Given the description of an element on the screen output the (x, y) to click on. 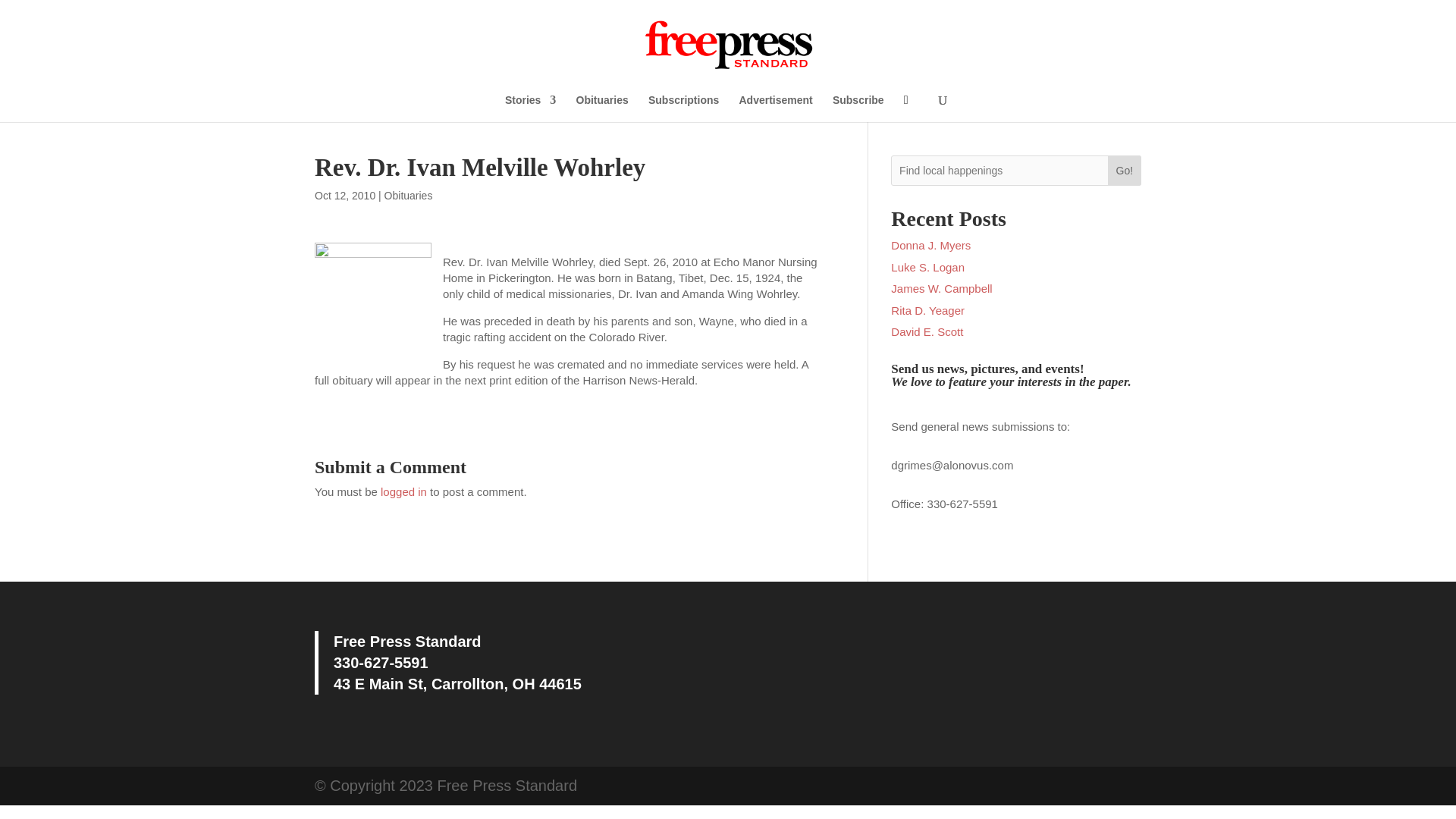
Advertisement (775, 108)
David E. Scott (926, 331)
Obituaries (408, 195)
worley (372, 303)
Obituaries (602, 108)
Rita D. Yeager (927, 309)
Stories (530, 108)
Subscribe (857, 108)
Luke S. Logan (927, 267)
James W. Campbell (941, 287)
